Given the description of an element on the screen output the (x, y) to click on. 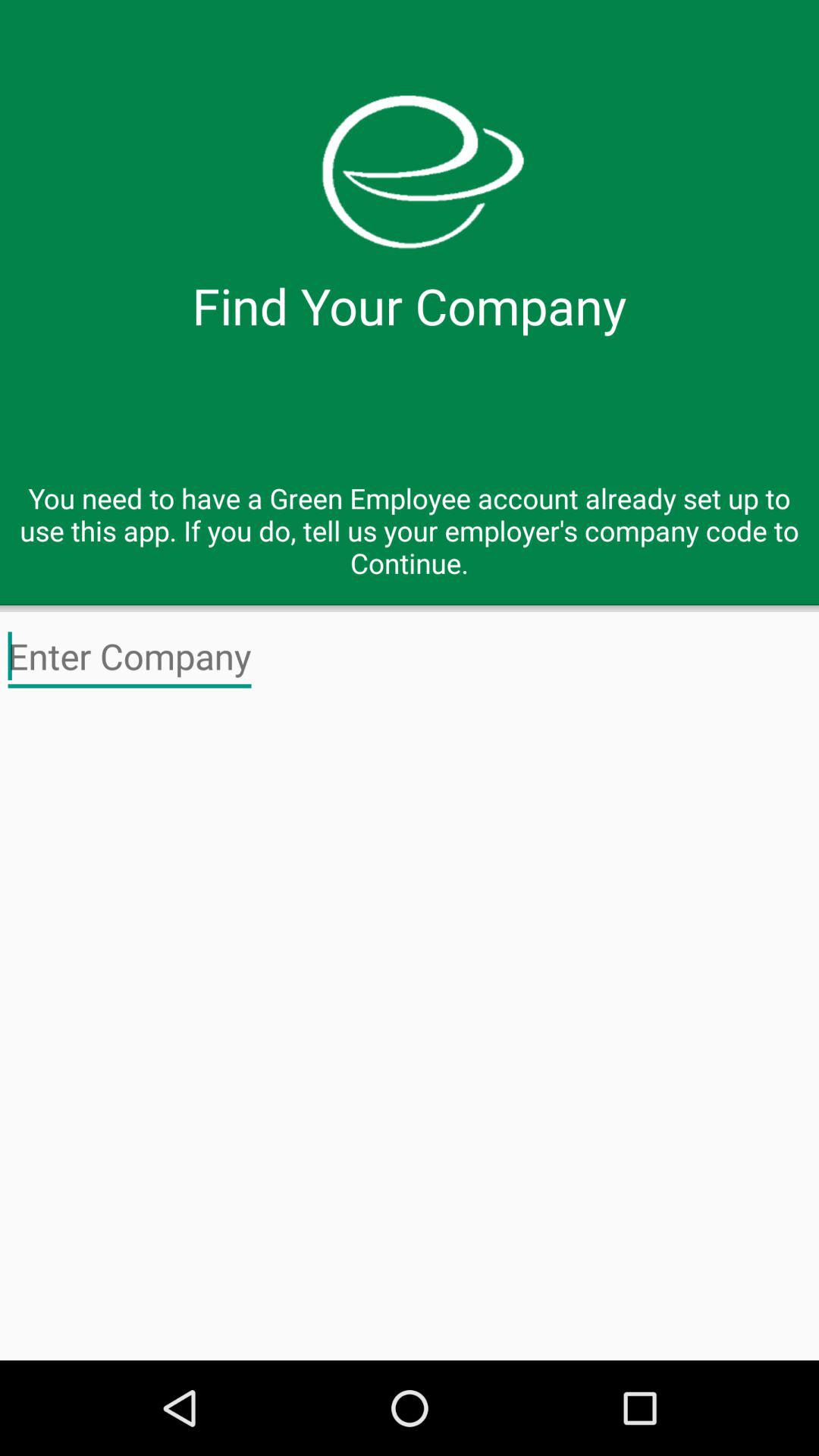
enter company (129, 656)
